Given the description of an element on the screen output the (x, y) to click on. 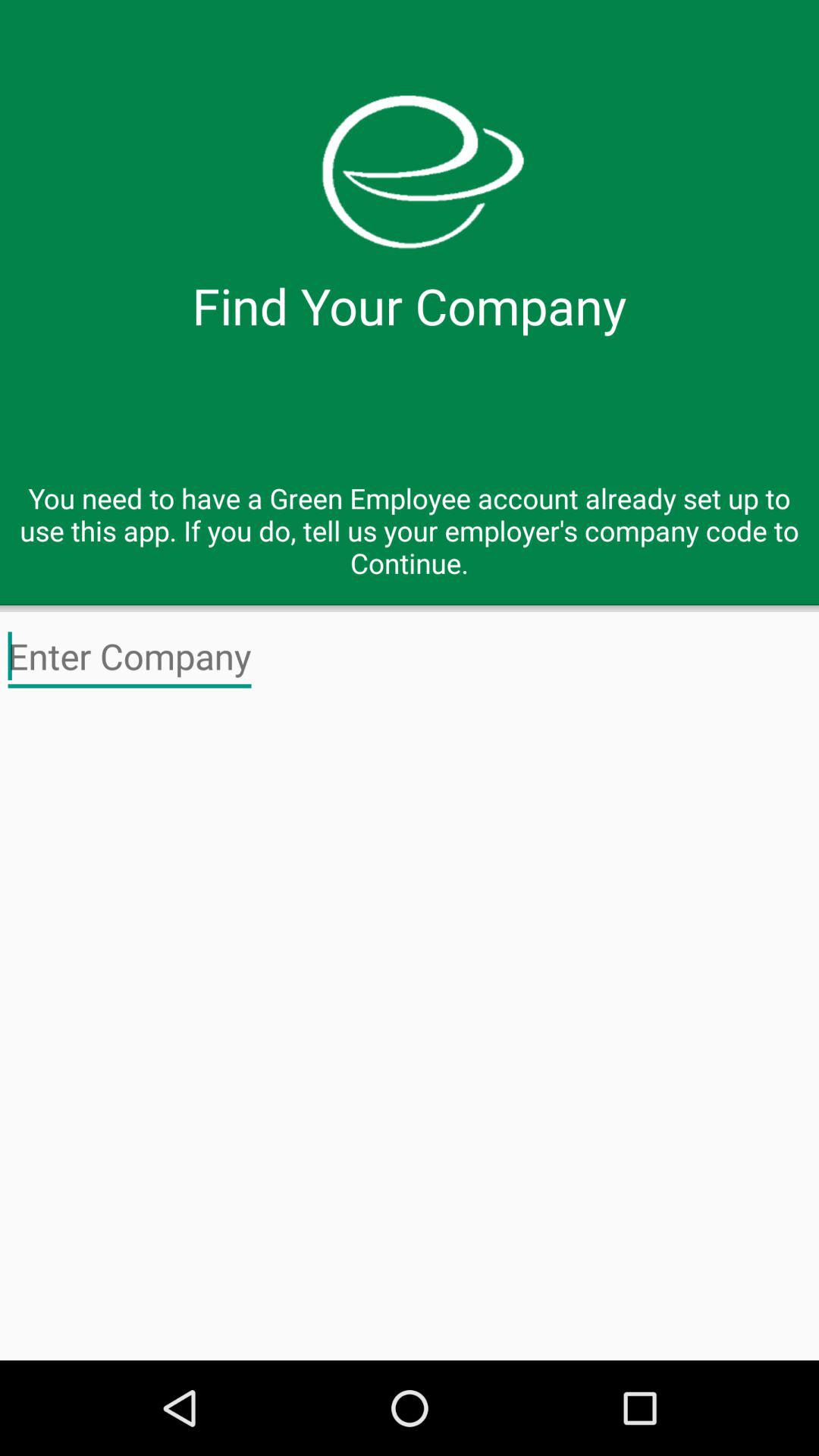
enter company (129, 656)
